Given the description of an element on the screen output the (x, y) to click on. 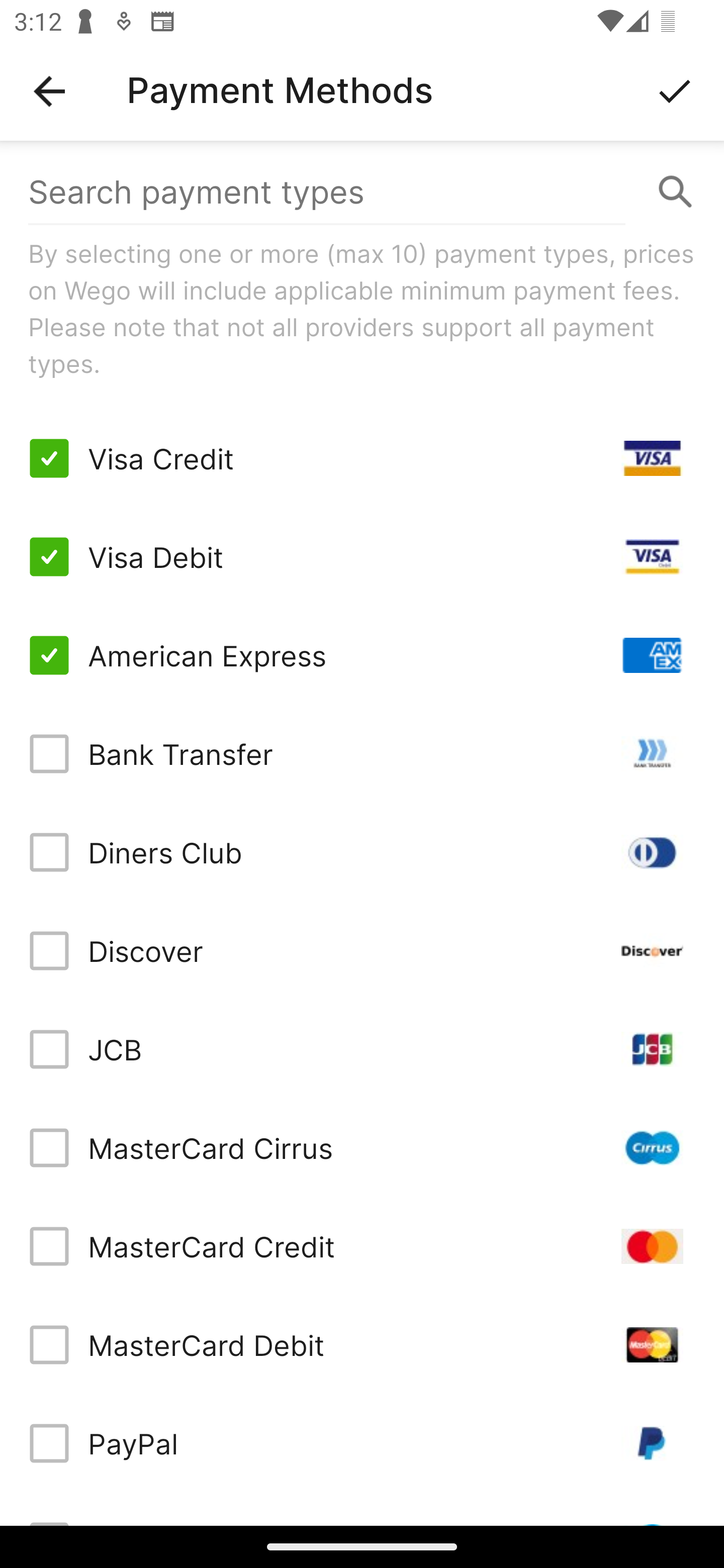
Search payment types  (361, 191)
Visa Credit (362, 458)
Visa Debit (362, 557)
American Express (362, 655)
Bank Transfer (362, 753)
Diners Club (362, 851)
Discover (362, 950)
JCB (362, 1049)
MasterCard Cirrus (362, 1147)
MasterCard Credit (362, 1245)
MasterCard Debit (362, 1344)
PayPal (362, 1442)
